Given the description of an element on the screen output the (x, y) to click on. 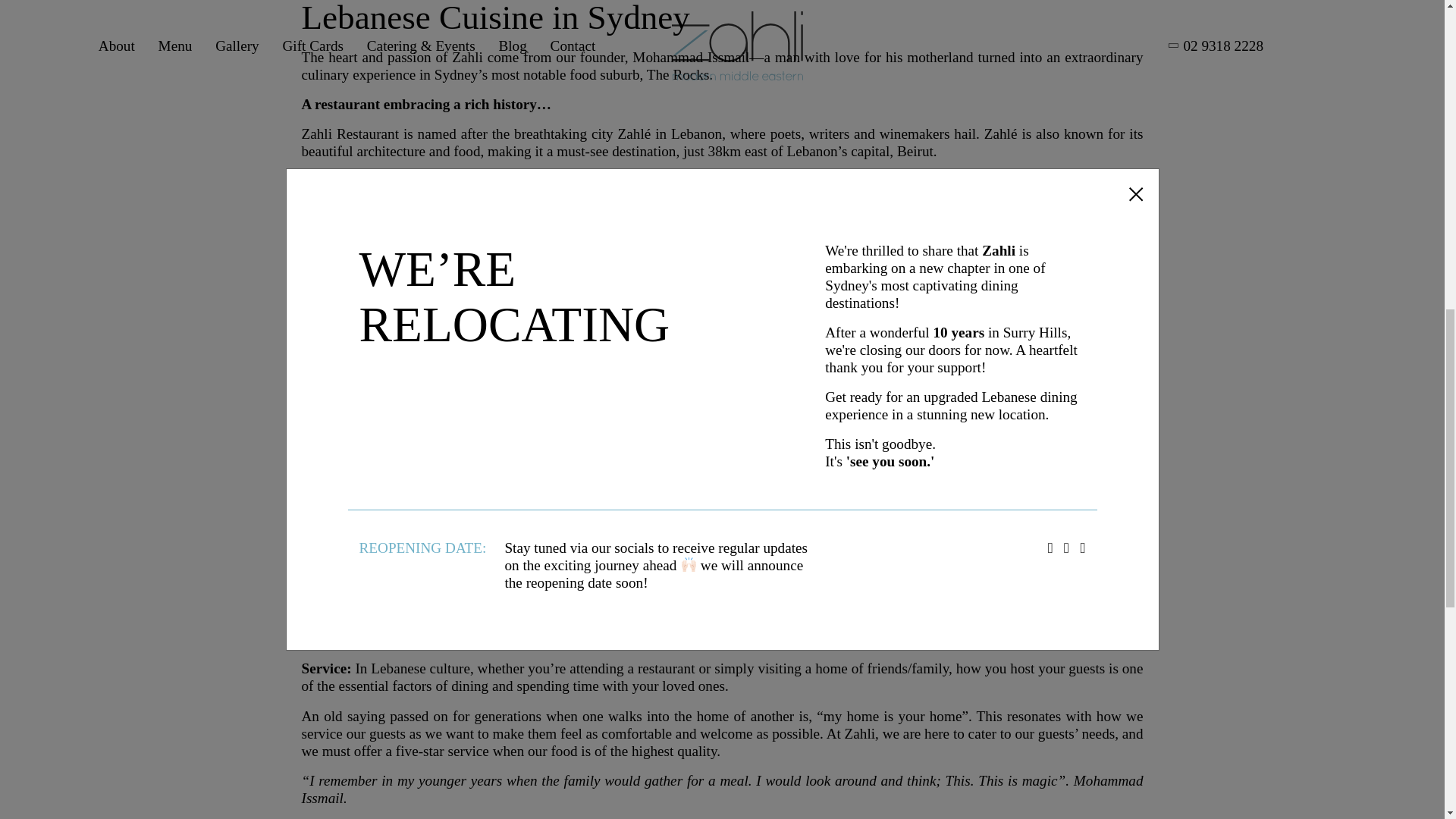
Lebanese cuisine (754, 198)
